Given the description of an element on the screen output the (x, y) to click on. 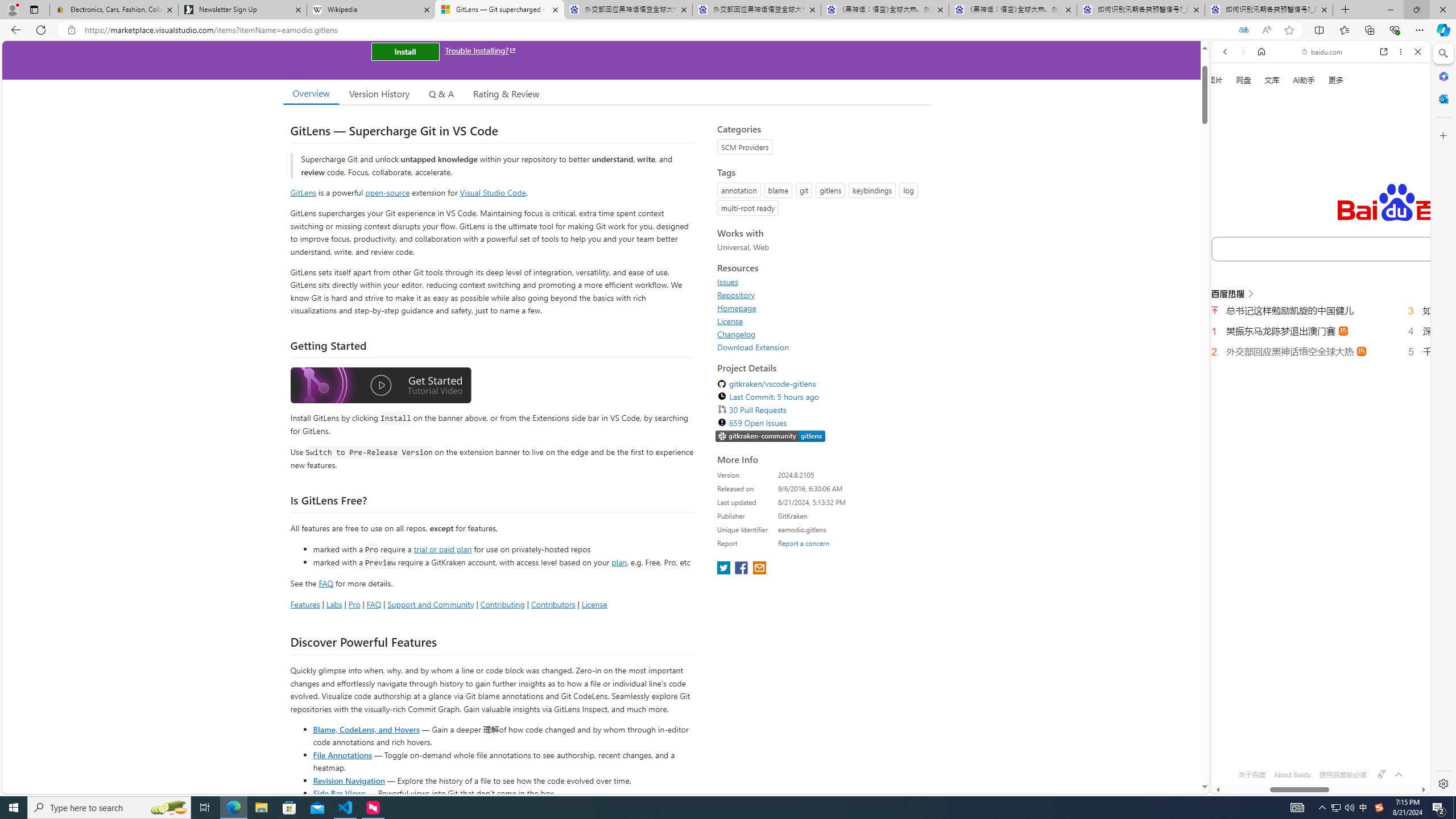
Changelog (736, 333)
Side Bar Views (339, 792)
share extension on twitter (724, 568)
Repository (820, 294)
Rating & Review (505, 92)
https://slack.gitkraken.com// (769, 436)
Changelog (820, 333)
